Given the description of an element on the screen output the (x, y) to click on. 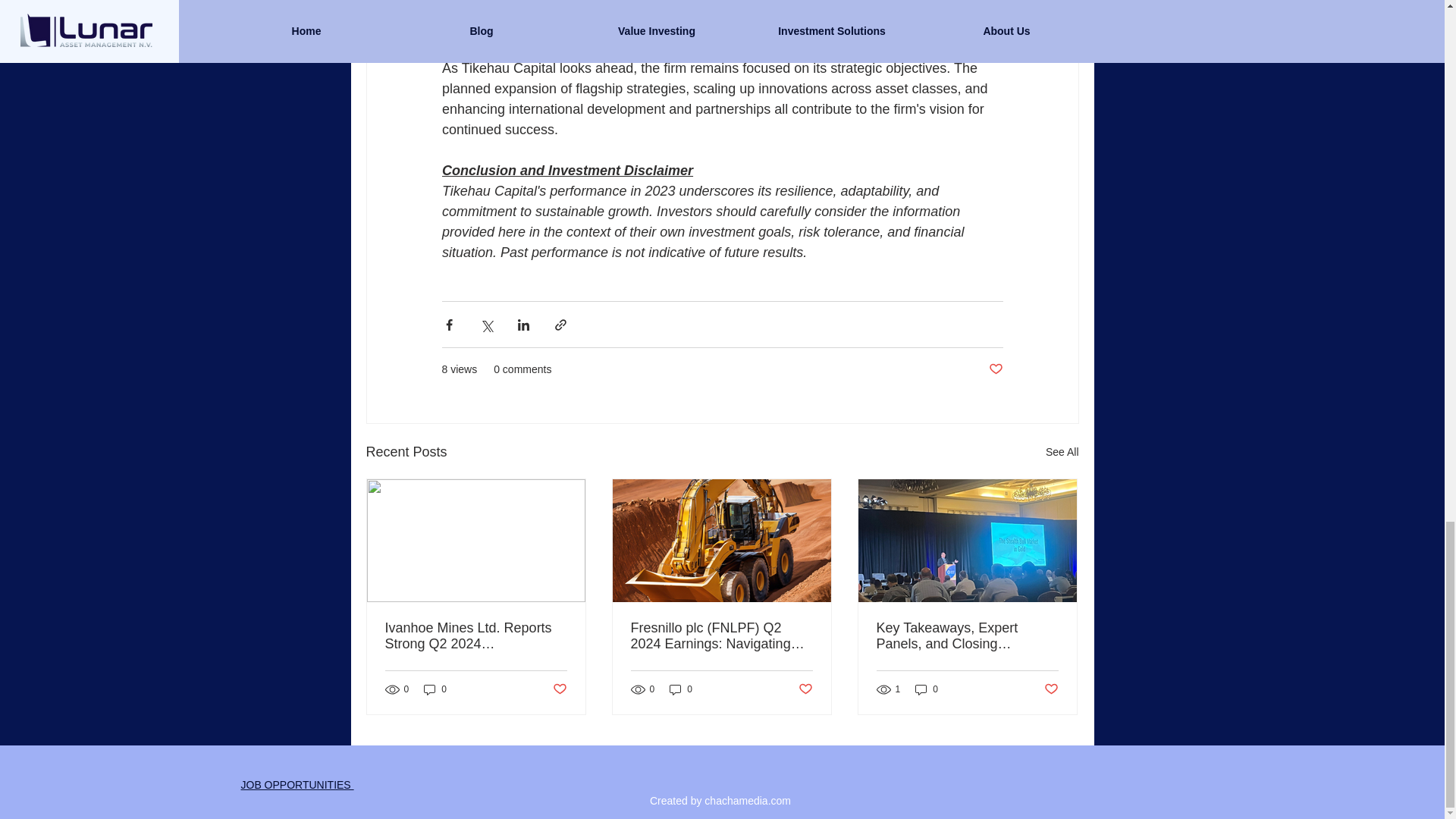
JOB OPPORTUNITIES  (297, 784)
Post not marked as liked (995, 369)
Post not marked as liked (558, 688)
0 (681, 689)
0 (435, 689)
0 (926, 689)
Post not marked as liked (1050, 688)
See All (1061, 452)
Post not marked as liked (804, 688)
